Given the description of an element on the screen output the (x, y) to click on. 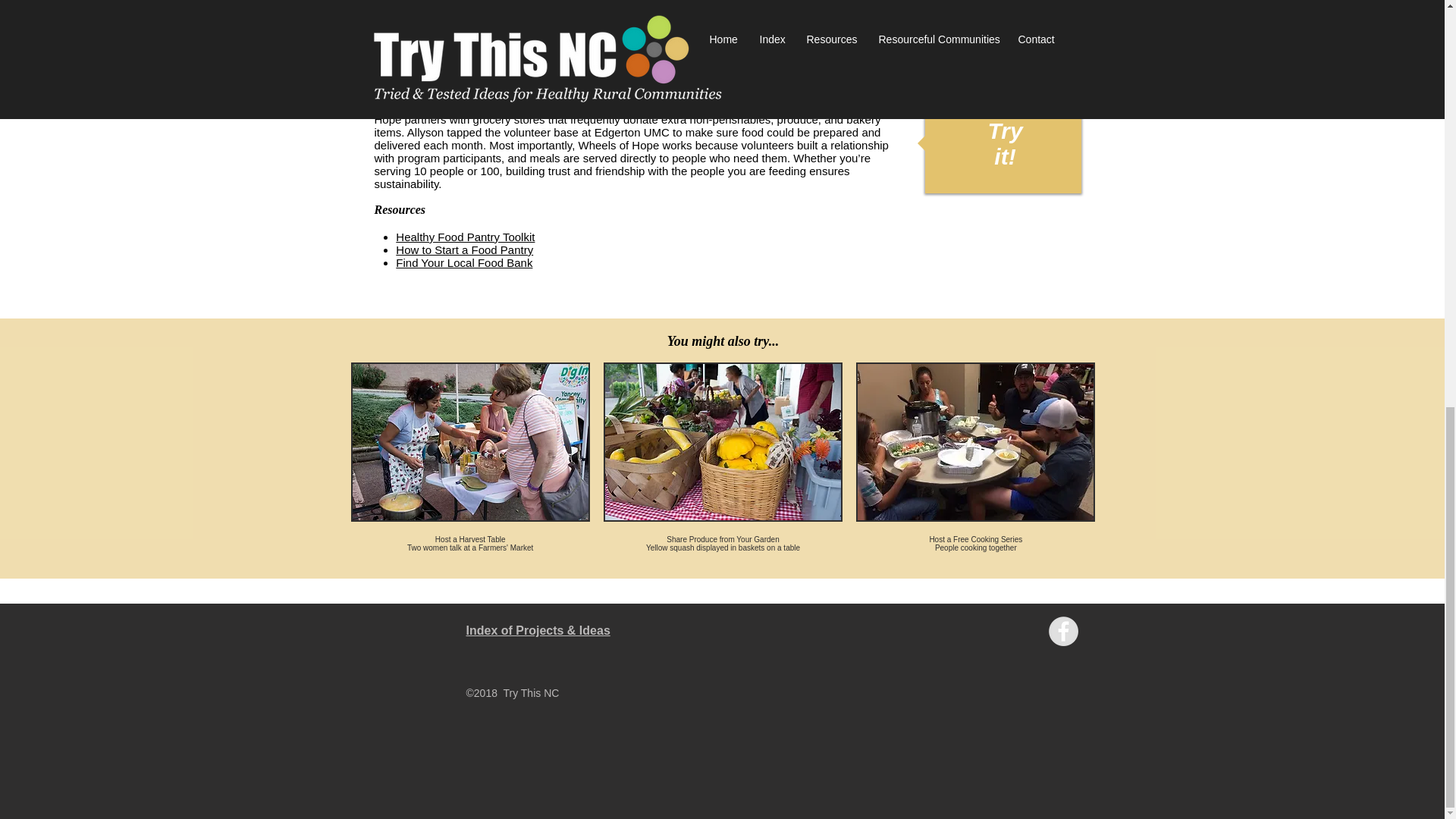
Healthy Food Pantry Toolkit (465, 236)
How to Start a Food Pantry (464, 249)
Find Your Local Food Bank (464, 262)
